Given the description of an element on the screen output the (x, y) to click on. 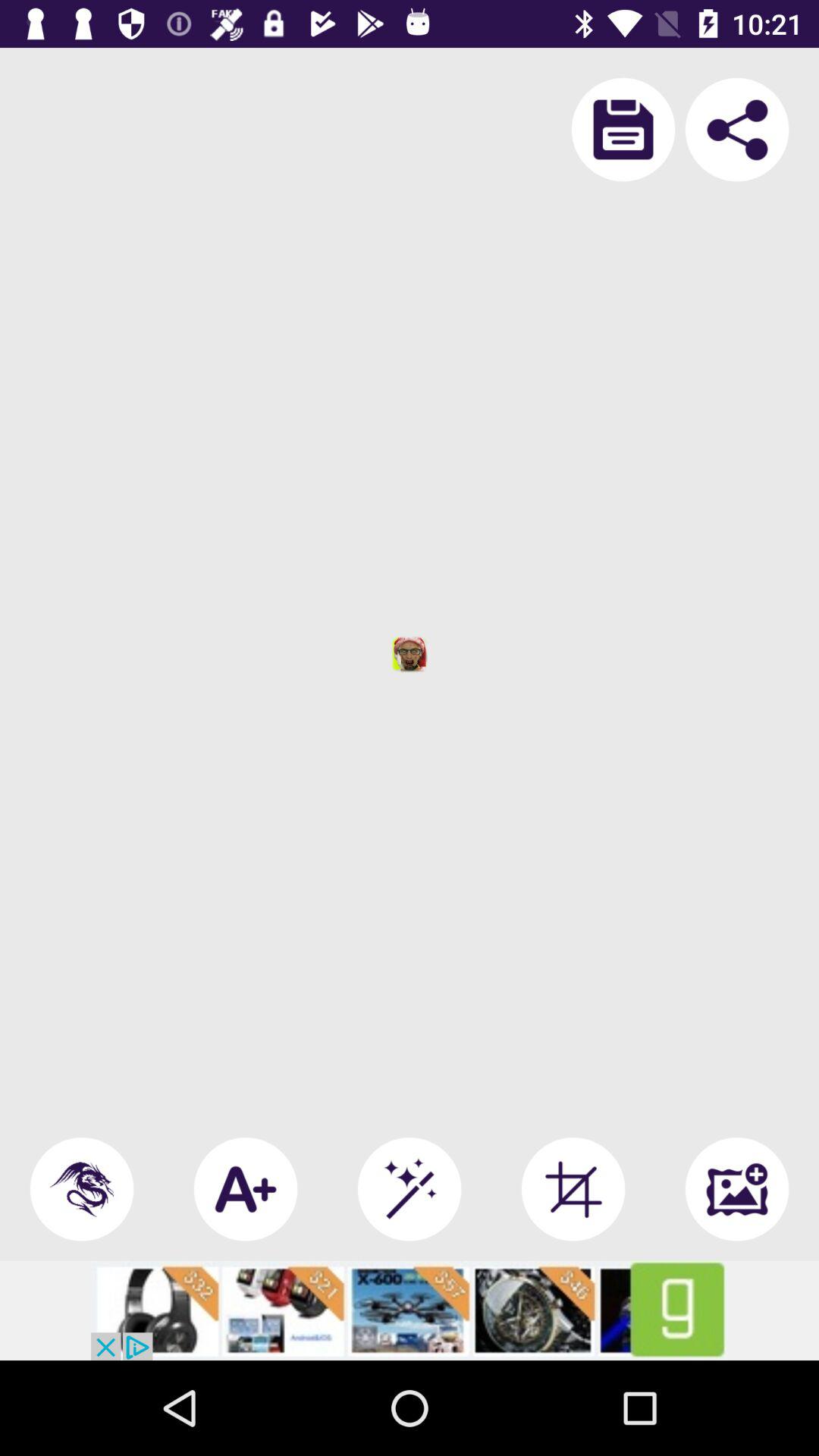
advertisement link to different site (409, 1310)
